Given the description of an element on the screen output the (x, y) to click on. 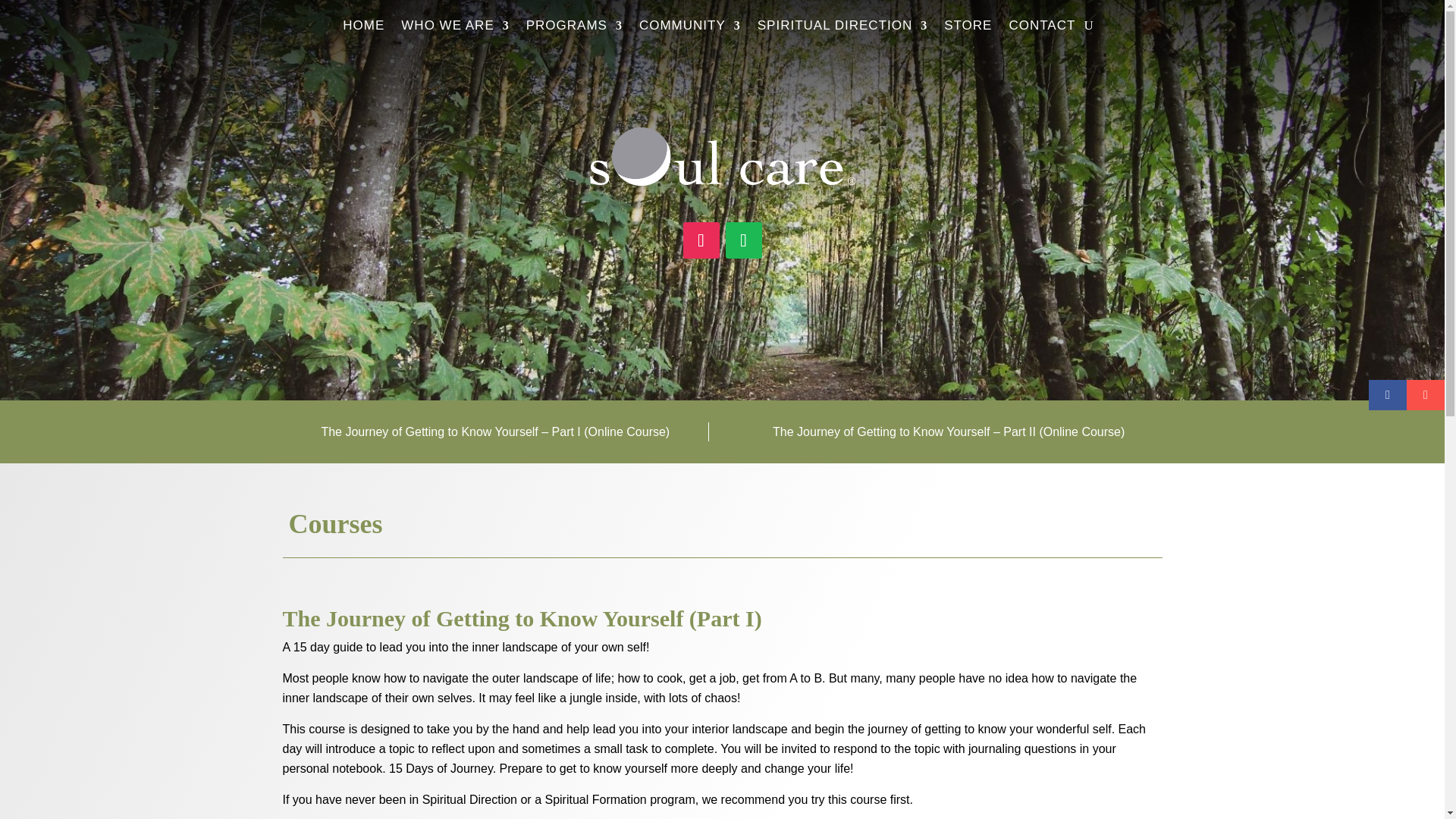
COMMUNITY (690, 28)
HOME (363, 28)
PROGRAMS (574, 28)
WHO WE ARE (454, 28)
SPIRITUAL DIRECTION (842, 28)
Follow on Spotify (743, 239)
Follow on Instagram (700, 239)
CONTACT (1042, 28)
STORE (967, 28)
23 01 06 soul care logos-white (722, 156)
